Given the description of an element on the screen output the (x, y) to click on. 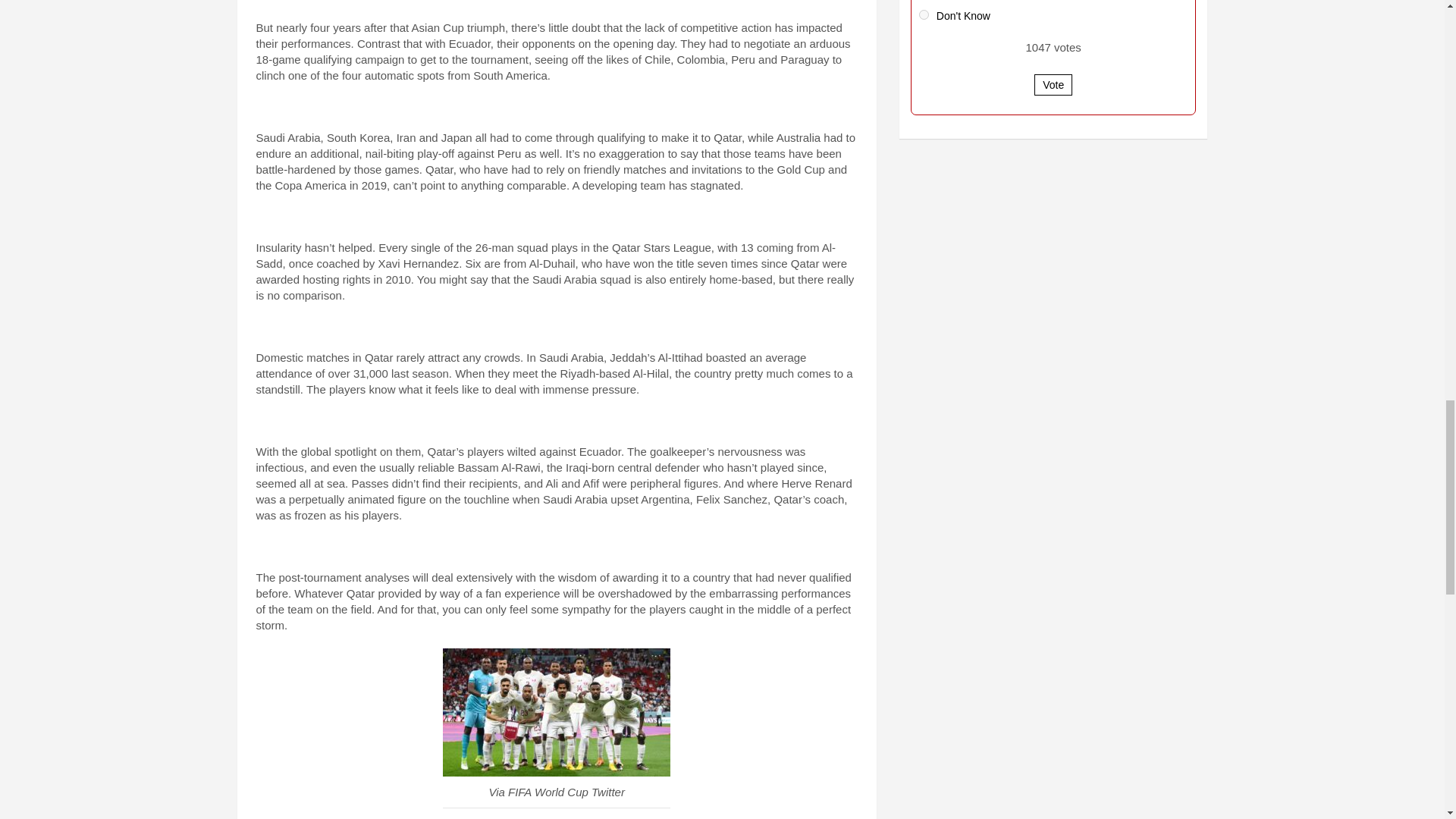
31 (923, 14)
